Given the description of an element on the screen output the (x, y) to click on. 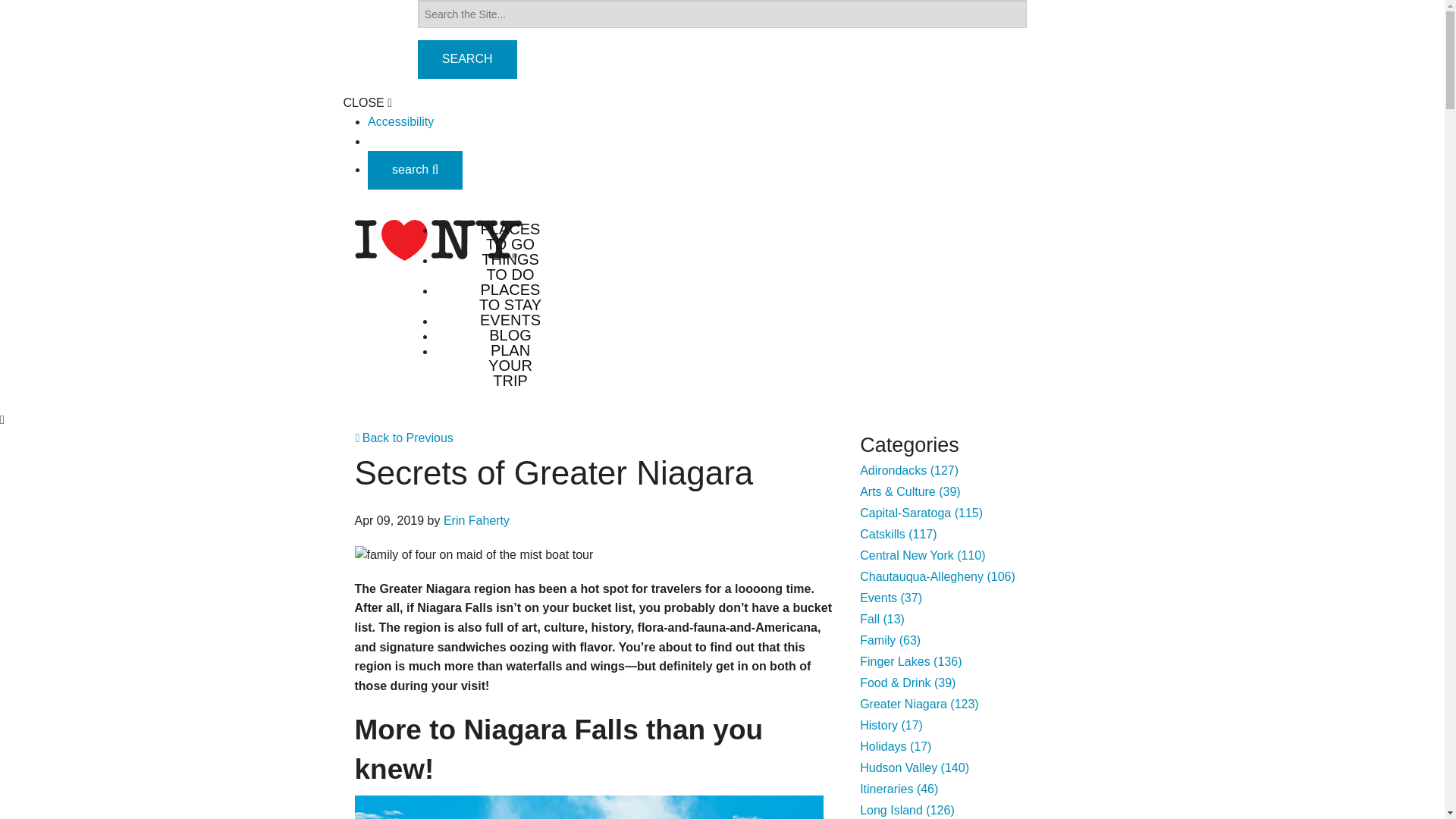
PLACES TO GO (510, 236)
SEARCH (466, 59)
Accessibility (400, 121)
search (415, 169)
search (415, 169)
